Given the description of an element on the screen output the (x, y) to click on. 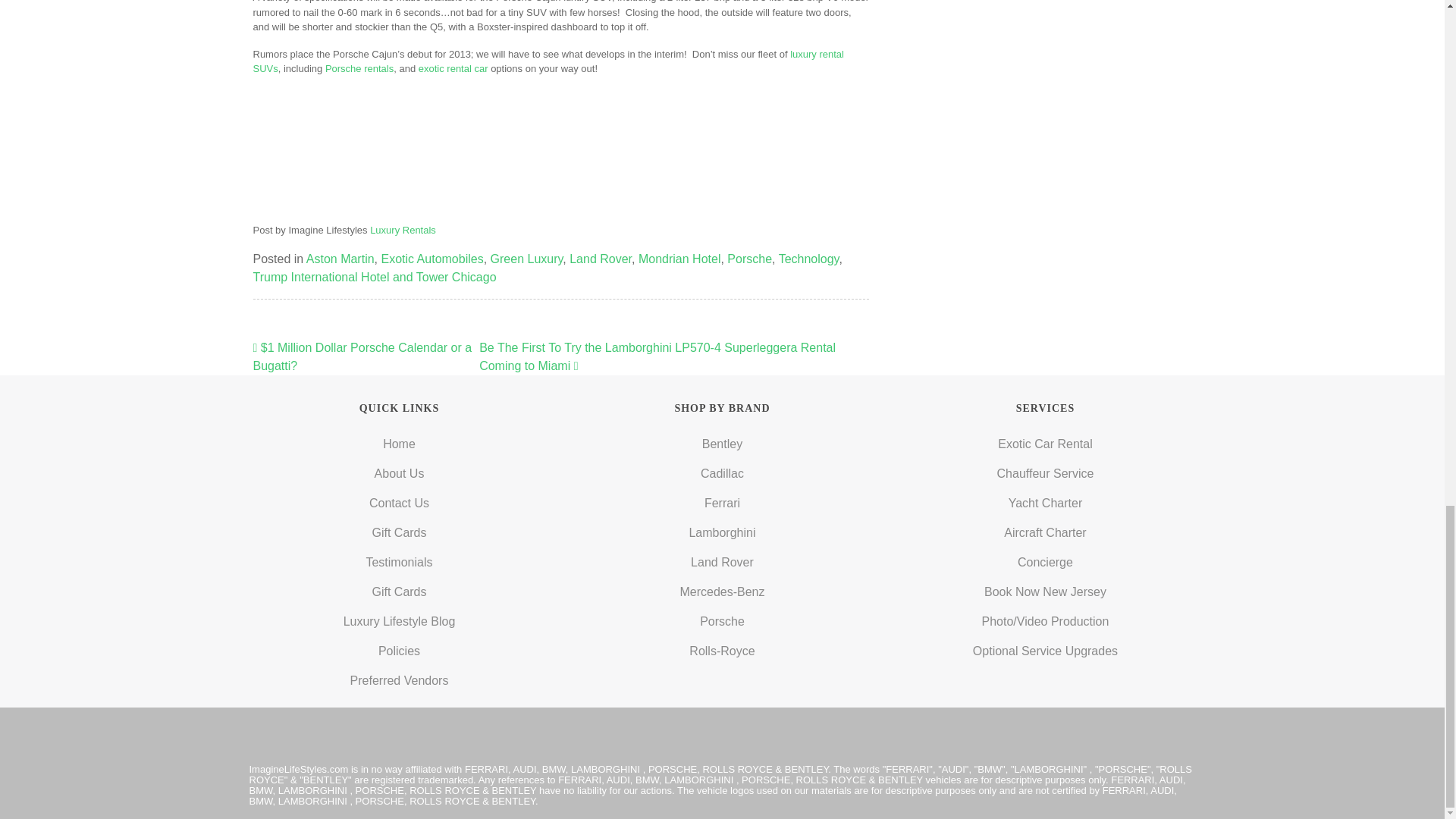
exotic rental car (453, 68)
Mondrian Hotel (679, 258)
Green Luxury (526, 258)
Aston Martin (339, 258)
luxury rental SUVs (548, 60)
Luxury Rentals (402, 229)
Exotic Automobiles (431, 258)
Porsche rentals (358, 68)
Porsche (748, 258)
Land Rover (600, 258)
